Given the description of an element on the screen output the (x, y) to click on. 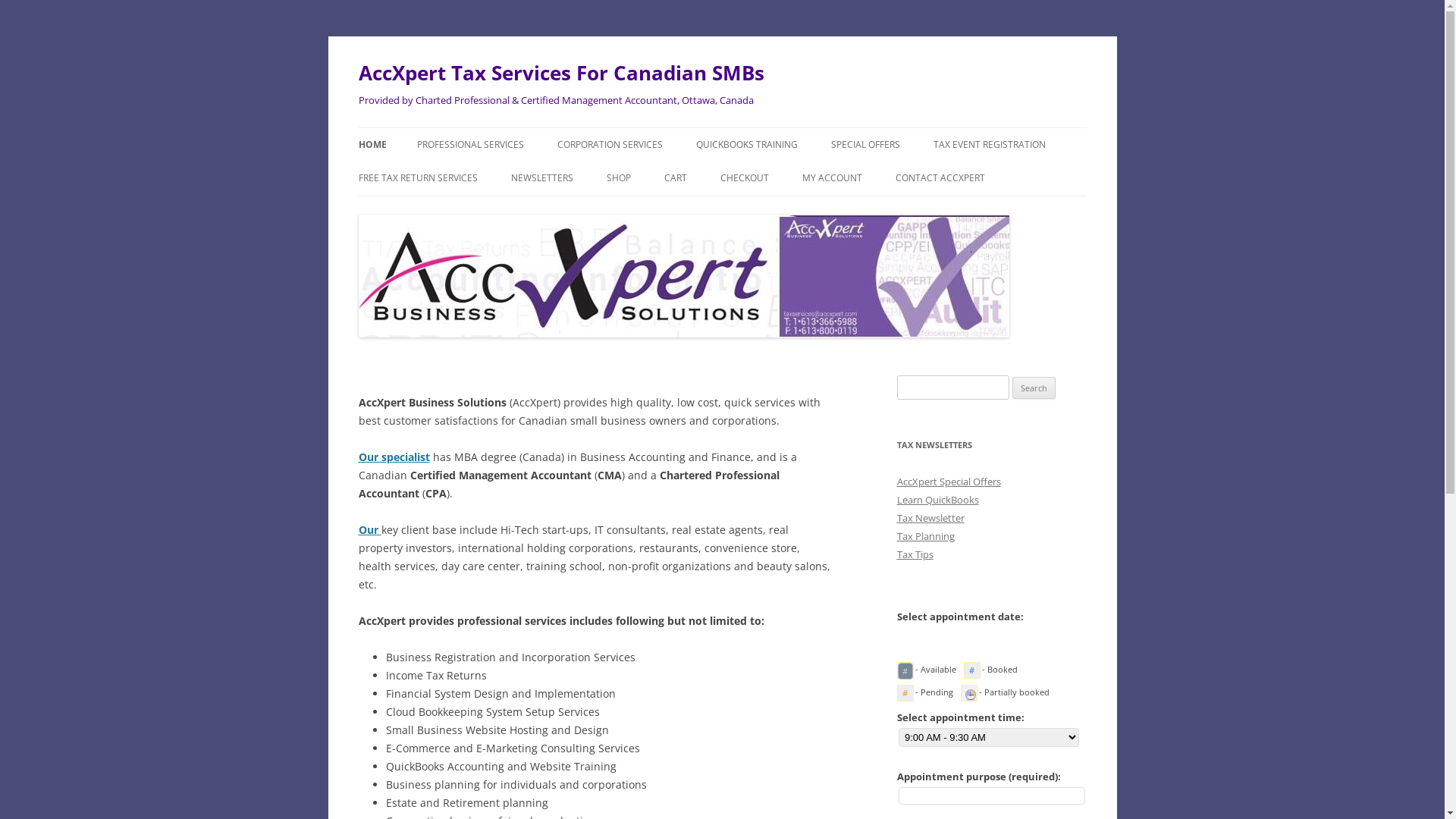
CHECKOUT Element type: text (744, 177)
TAX EVENT REGISTRATION Element type: text (988, 144)
CORPORATION SERVICES Element type: text (609, 144)
FREE TAX RETURN SERVICES Element type: text (416, 177)
AccXpert Special Offers Element type: text (948, 481)
SPECIAL OFFERS Element type: text (865, 144)
CONTACT ACCXPERT Element type: text (939, 177)
Our specialist Element type: text (393, 456)
QUICKBOOKS TRAINING Element type: text (746, 144)
AccXpert Tax Services For Canadian SMBs Element type: text (560, 72)
Our Element type: text (368, 529)
Tax Tips Element type: text (914, 554)
CHANGE PASSWORD Element type: text (877, 210)
SHOP Element type: text (618, 177)
CART Element type: text (675, 177)
HOME Element type: text (371, 144)
Search Element type: text (1033, 387)
NEWSLETTERS Element type: text (542, 177)
Learn QuickBooks Element type: text (937, 499)
# Element type: text (905, 670)
APPOINTMENT Element type: text (970, 210)
PROFESSIONAL SERVICES Element type: text (470, 144)
MY ACCOUNT Element type: text (832, 177)
Skip to content Element type: text (721, 127)
Tax Newsletter Element type: text (929, 517)
Tax Planning Element type: text (924, 535)
